Given the description of an element on the screen output the (x, y) to click on. 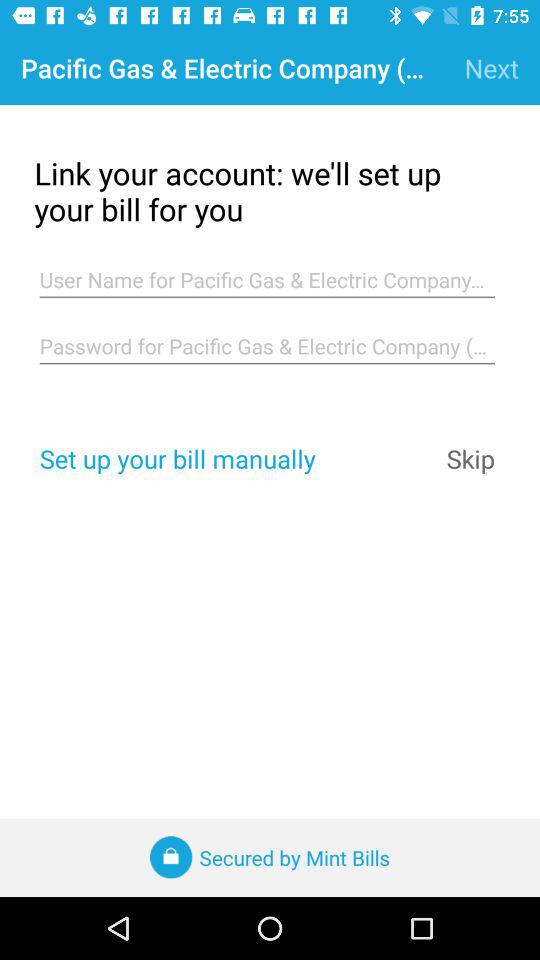
swipe until the next (491, 67)
